Given the description of an element on the screen output the (x, y) to click on. 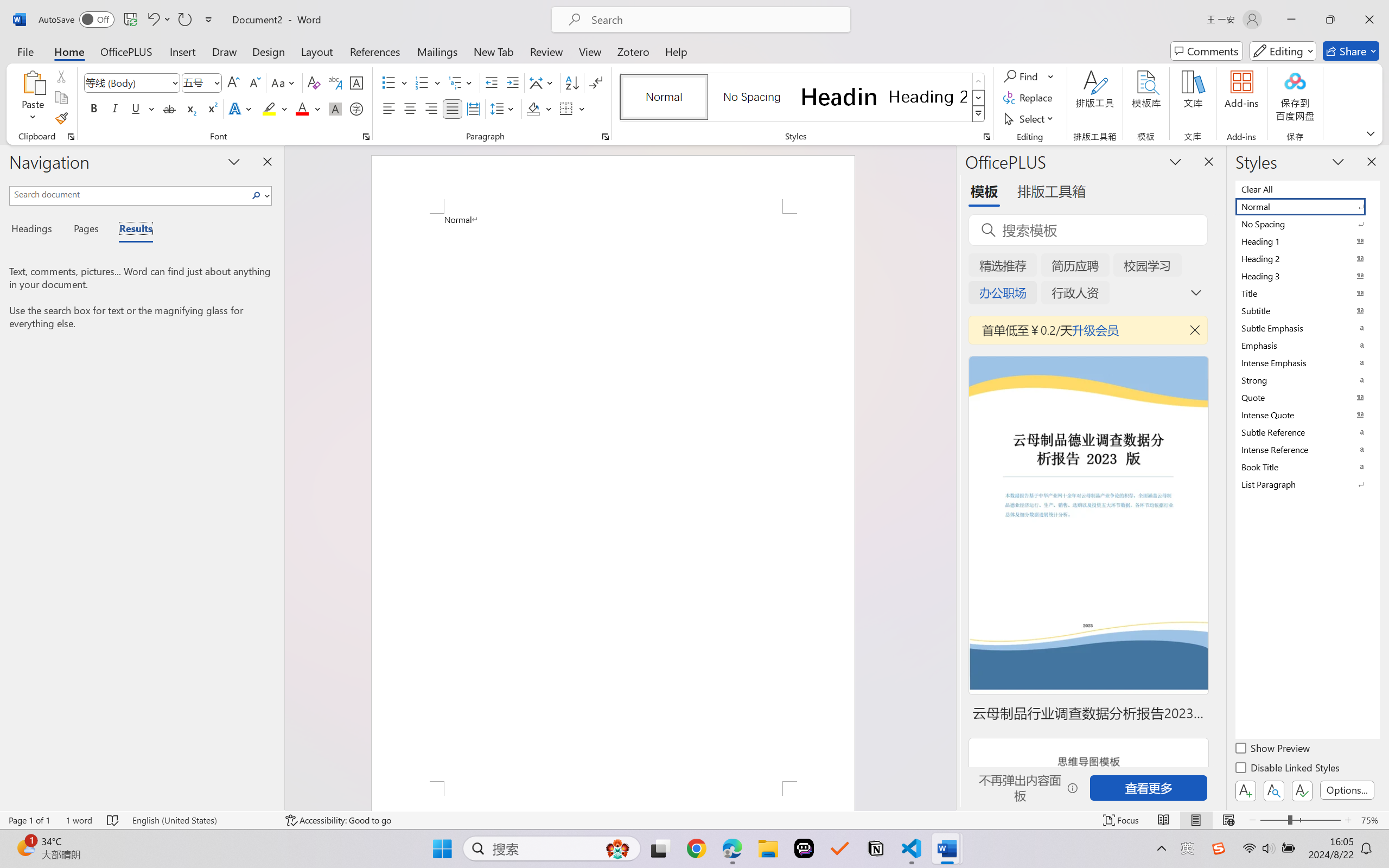
Character Border (356, 82)
Undo Apply Quick Style (158, 19)
Search (256, 195)
Font... (365, 136)
Spelling and Grammar Check No Errors (113, 819)
Row up (978, 81)
New Tab (493, 51)
Distributed (473, 108)
Title (1306, 293)
Select (1030, 118)
Italic (115, 108)
